Given the description of an element on the screen output the (x, y) to click on. 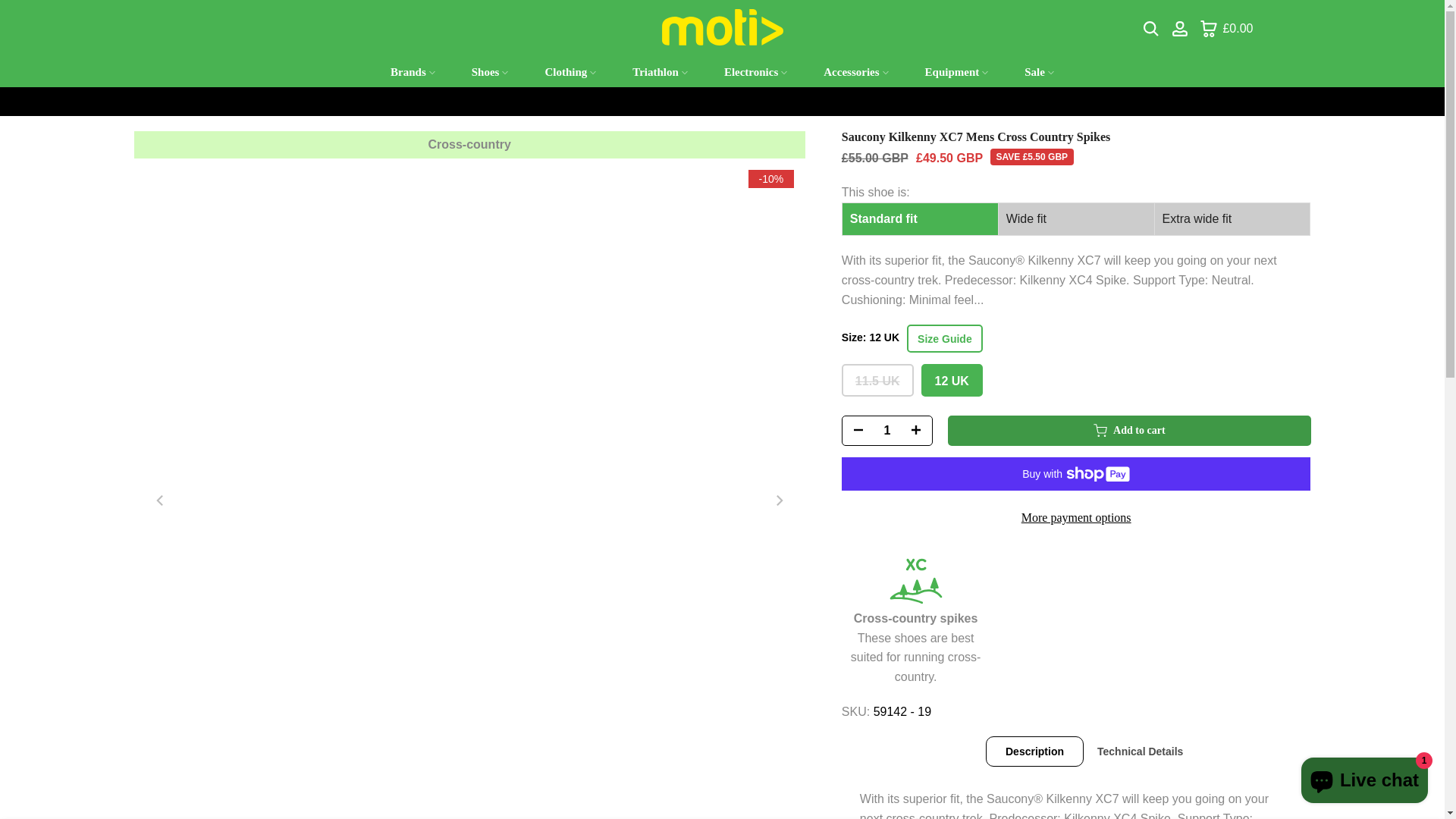
Electronics (755, 72)
Shoes (489, 72)
Description (1034, 751)
1 (886, 430)
Sale (1038, 72)
More payment options (1076, 517)
Add to cart (1129, 430)
Clothing (569, 72)
Equipment (957, 72)
Shopify online store chat (1364, 781)
Accessories (855, 72)
Skip to content (10, 7)
Brands (412, 72)
Size Guide (944, 338)
Technical Details (1139, 751)
